Given the description of an element on the screen output the (x, y) to click on. 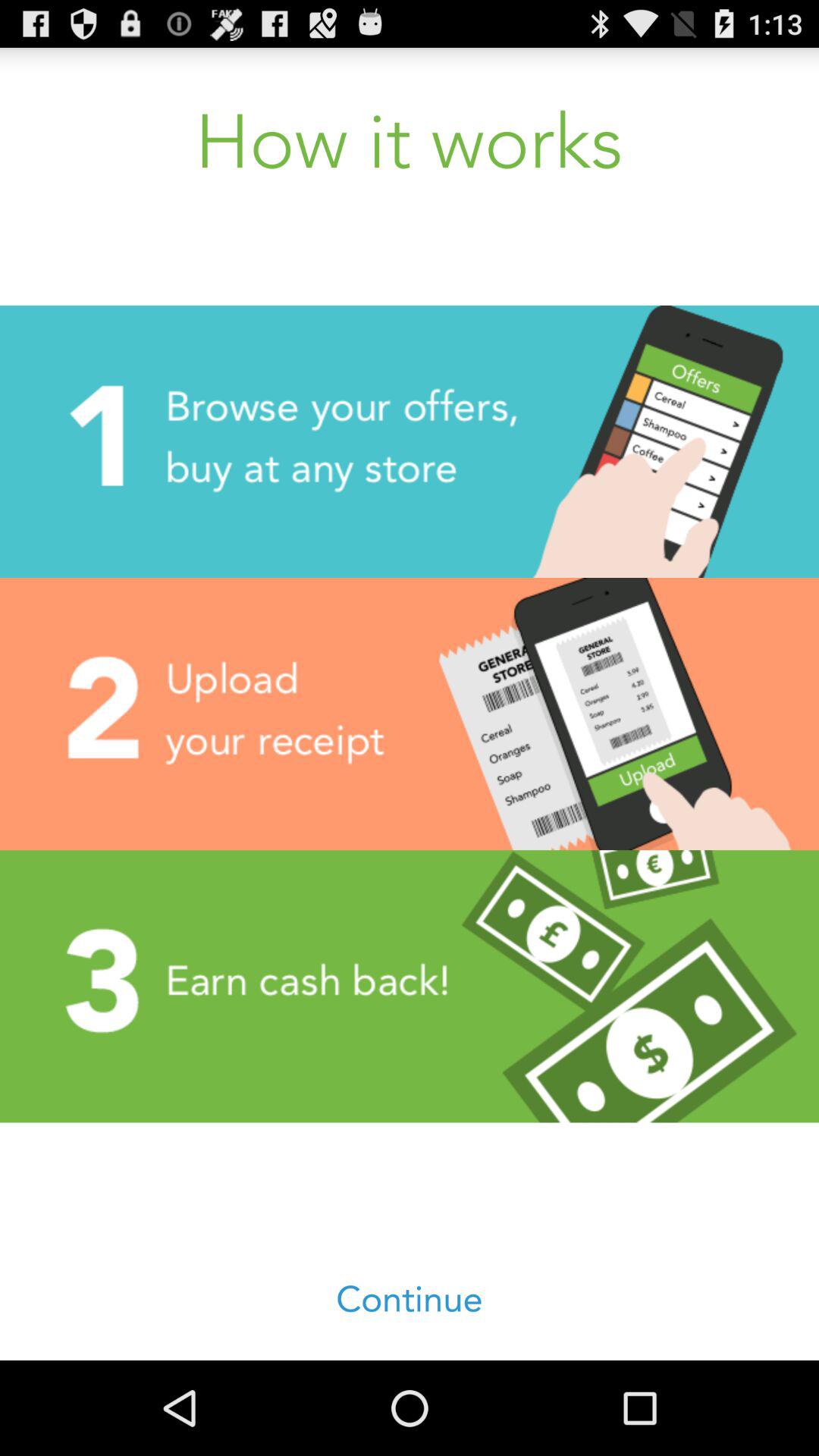
flip until continue icon (409, 1300)
